Given the description of an element on the screen output the (x, y) to click on. 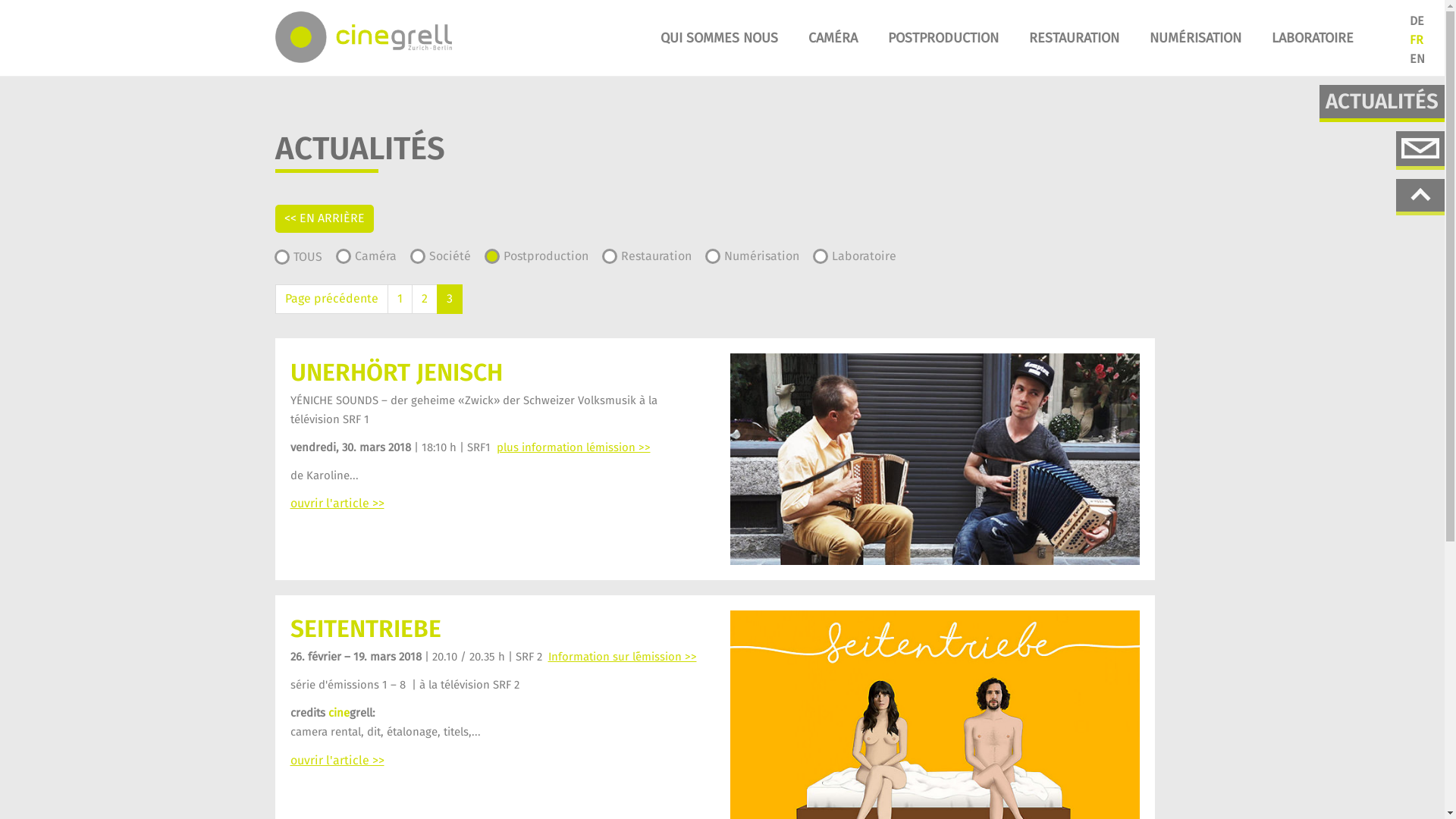
ouvrir l'article >> Element type: text (336, 760)
FR Element type: text (1416, 39)
1 Element type: text (398, 298)
2 Element type: text (423, 298)
Scroll to top Element type: hover (1420, 196)
EN Element type: text (1416, 58)
RESTAURATION Element type: text (1073, 37)
Laboratoire Element type: text (872, 256)
ouvrir l'article >> Element type: text (336, 503)
Contact Element type: hover (1419, 148)
DE Element type: text (1416, 20)
Postproduction Element type: text (554, 256)
QUI SOMMES NOUS Element type: text (719, 37)
POSTPRODUCTION Element type: text (942, 37)
LABORATOIRE Element type: text (1312, 37)
TOUS Element type: text (315, 256)
Restauration Element type: text (664, 256)
